Given the description of an element on the screen output the (x, y) to click on. 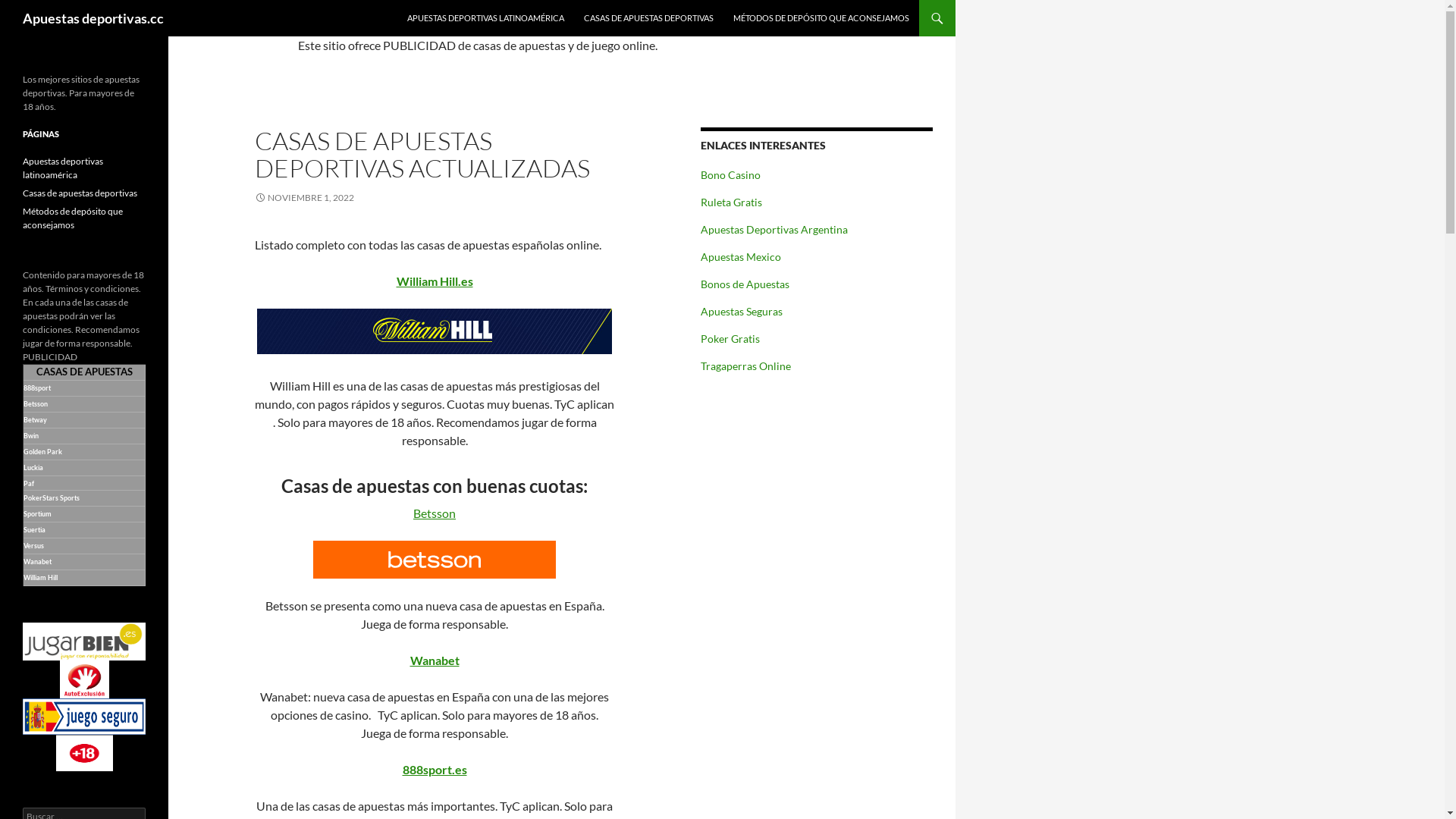
Sportium Element type: text (37, 513)
NOVIEMBRE 1, 2022 Element type: text (304, 197)
CASAS DE APUESTAS DEPORTIVAS ACTUALIZADAS Element type: text (421, 154)
Paf Element type: text (28, 483)
Golden Park Element type: text (42, 451)
Bonos de Apuestas Element type: text (744, 283)
Wanabet Element type: text (433, 659)
Tragaperras Online Element type: text (745, 365)
William Hill.es Element type: text (433, 280)
Apuestas Deportivas Argentina Element type: text (773, 228)
Betway Element type: text (35, 419)
Bwin Element type: text (30, 434)
Apuestas Seguras Element type: text (741, 310)
CASAS DE APUESTAS DEPORTIVAS Element type: text (648, 18)
Buscar Element type: text (29, 9)
888sport.es Element type: text (433, 769)
Ruleta Gratis Element type: text (731, 201)
Wanabet Element type: text (37, 560)
Versus Element type: text (33, 545)
888sport Element type: text (36, 387)
Betsson Element type: text (35, 402)
Apuestas deportivas.cc Element type: text (92, 18)
Bono Casino Element type: text (730, 174)
Apuestas Mexico Element type: text (740, 256)
PokerStars Sports Element type: text (51, 496)
Betsson Element type: text (434, 512)
Poker Gratis Element type: text (729, 338)
Suertia Element type: text (34, 528)
William Hill Element type: text (40, 577)
Casas de apuestas deportivas Element type: text (79, 192)
Luckia Element type: text (33, 466)
